Given the description of an element on the screen output the (x, y) to click on. 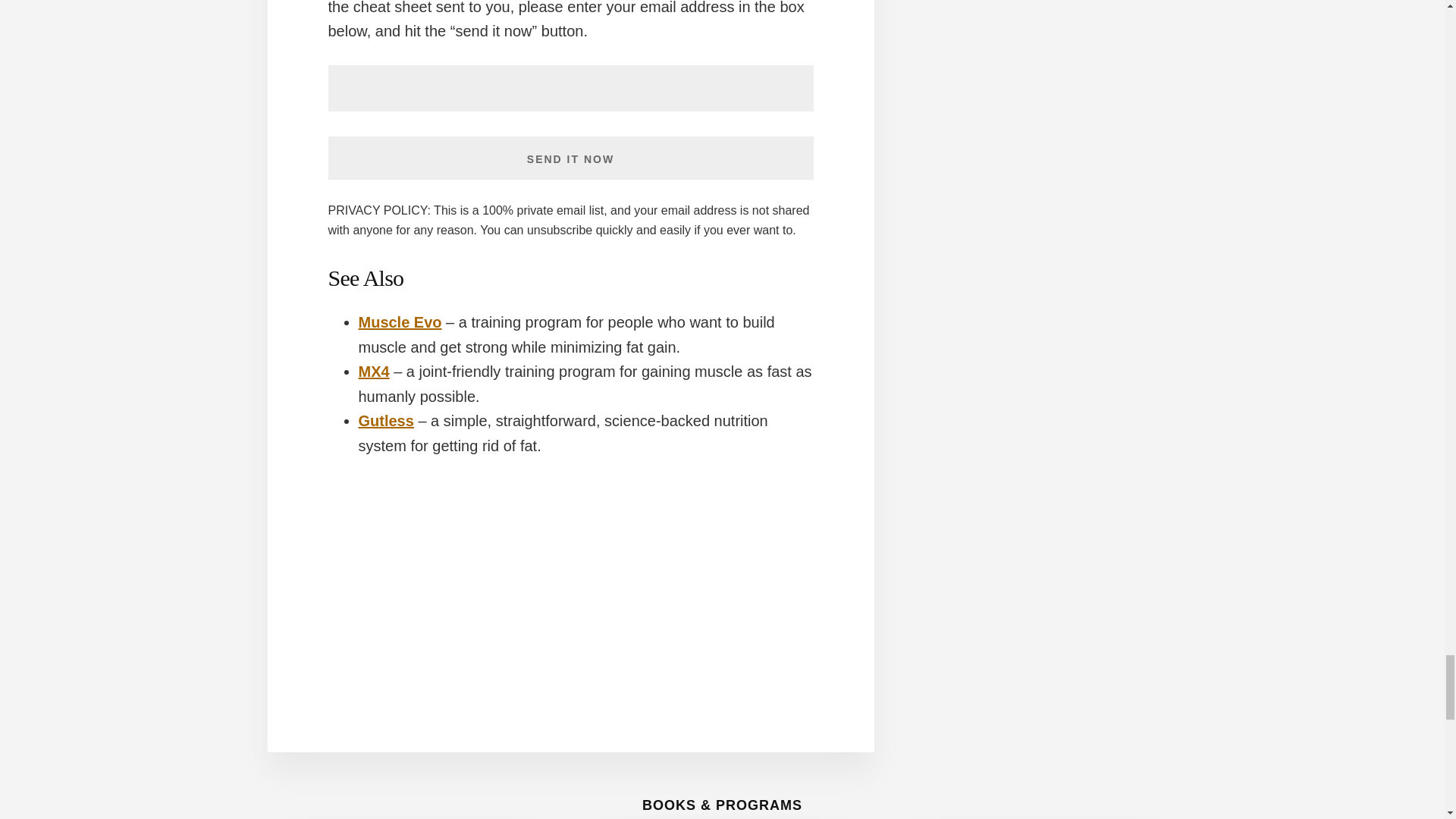
Muscle Evo (399, 321)
Gutless (385, 420)
SEND IT NOW (569, 158)
SEND IT NOW (569, 158)
MX4 (373, 371)
